Given the description of an element on the screen output the (x, y) to click on. 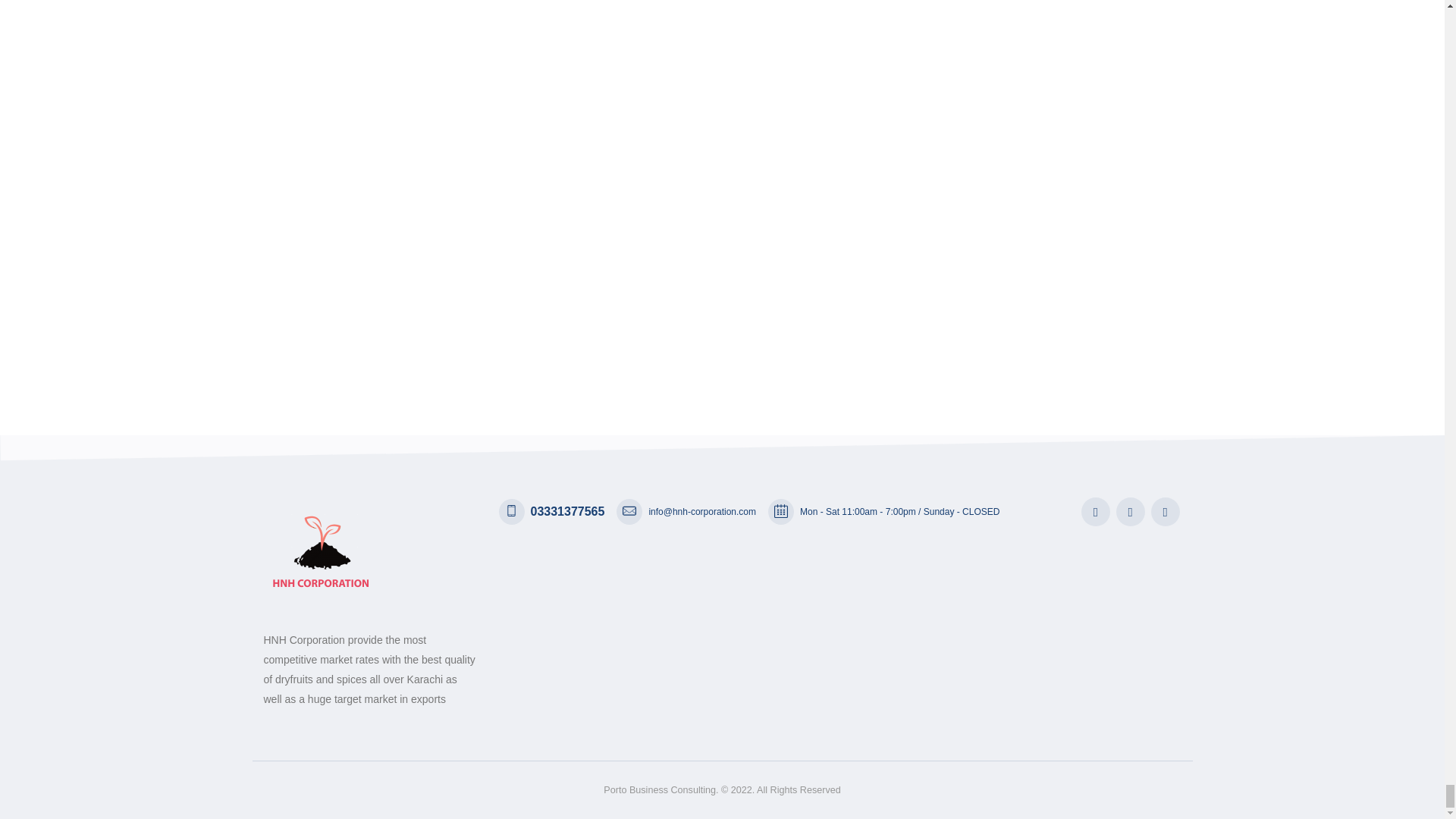
Facebook (1095, 511)
Instagram (1165, 511)
Twitter (1130, 511)
